Given the description of an element on the screen output the (x, y) to click on. 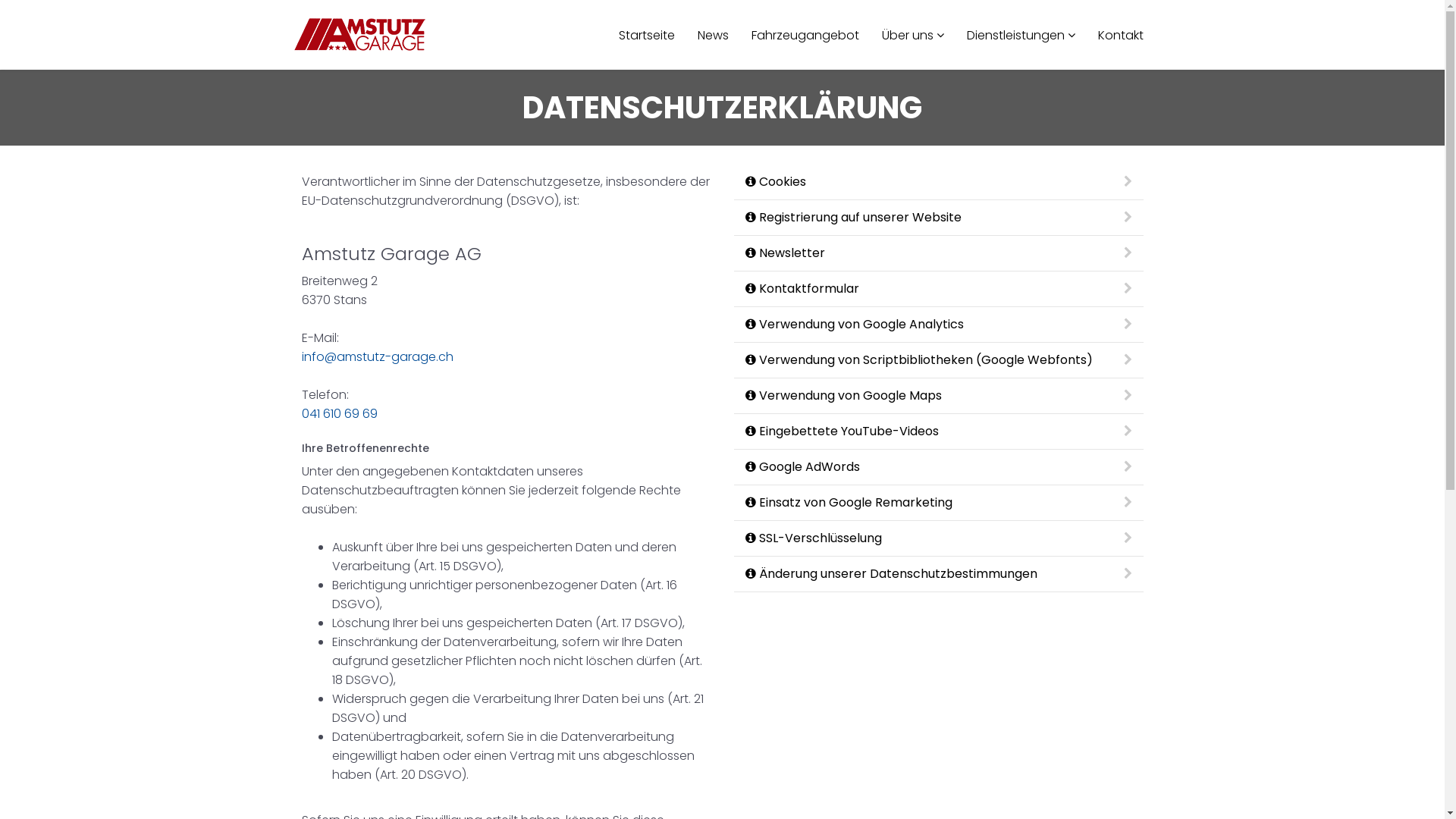
Dienstleistungen Element type: text (1020, 34)
Startseite Element type: text (645, 35)
info@amstutz-garage.ch Element type: text (377, 356)
Kontakt Element type: text (1119, 35)
News Element type: text (712, 35)
041 610 69 69 Element type: text (339, 413)
Fahrzeugangebot Element type: text (805, 35)
